Given the description of an element on the screen output the (x, y) to click on. 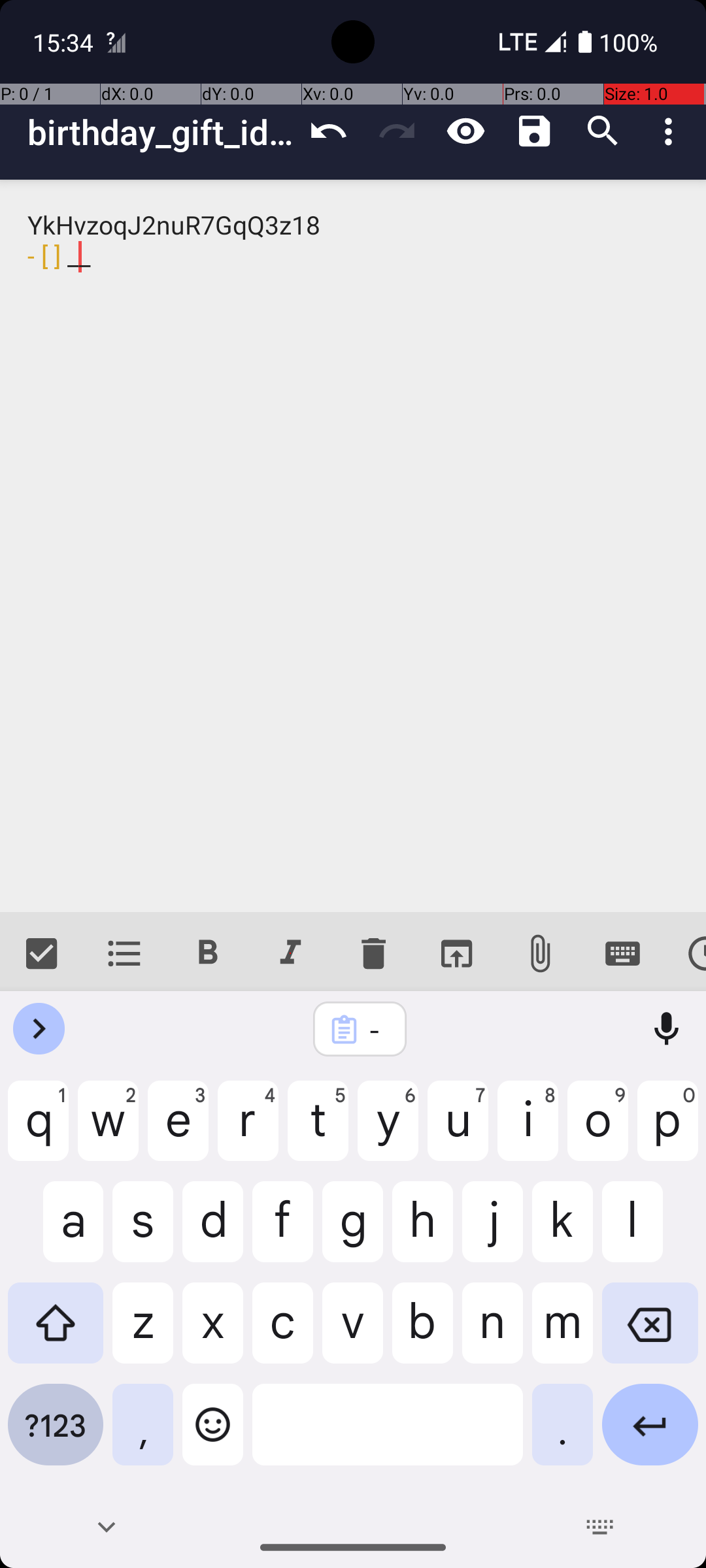
birthday_gift_ideas_mom_final Element type: android.widget.TextView (160, 131)
YkHvzoqJ2nuR7GqQ3z18
- [ ] __ Element type: android.widget.EditText (353, 545)
-  Element type: android.widget.TextView (376, 1029)
